Given the description of an element on the screen output the (x, y) to click on. 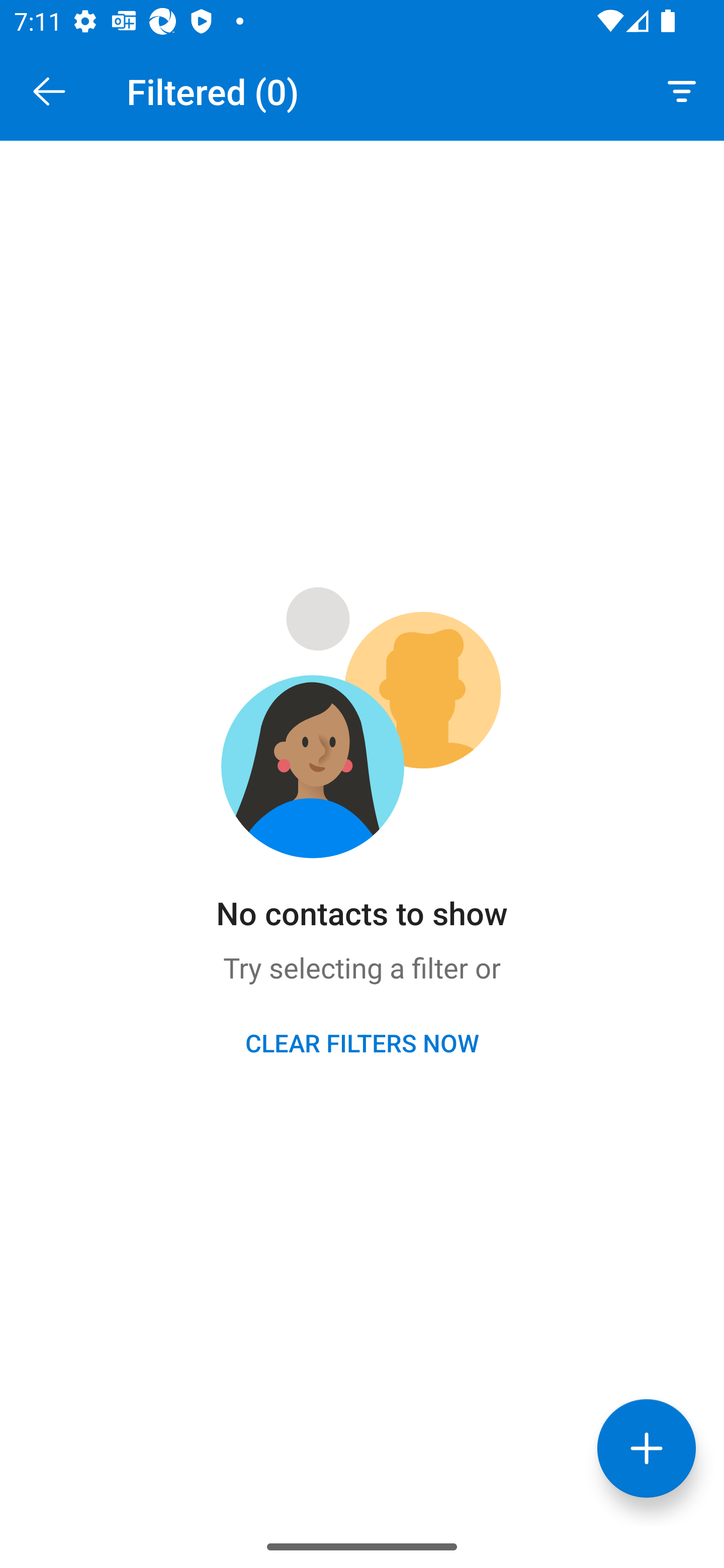
Navigate up (49, 91)
Filter (681, 90)
CLEAR FILTERS NOW (361, 1042)
Add new contact (646, 1447)
